Given the description of an element on the screen output the (x, y) to click on. 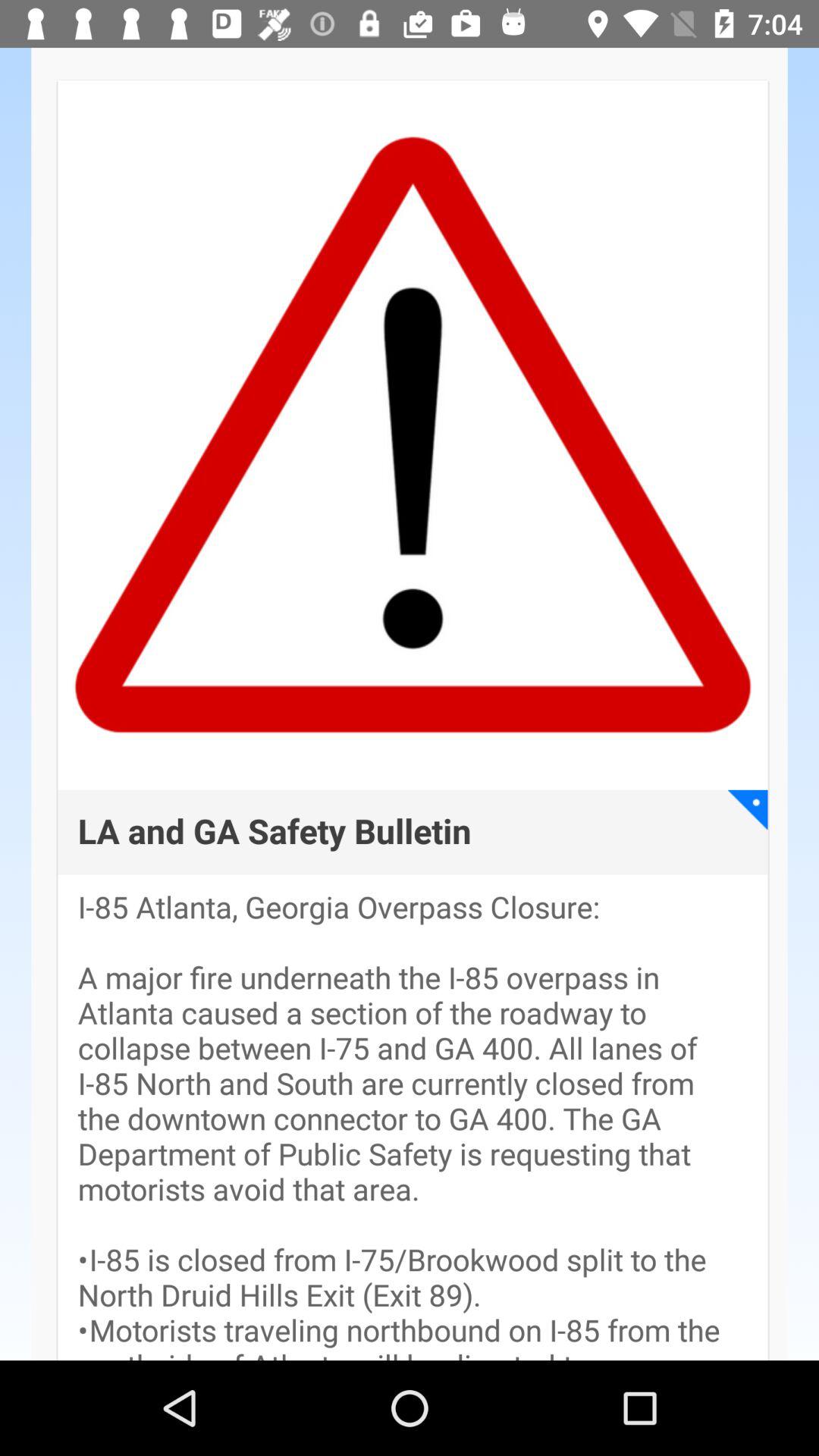
swipe until i 85 atlanta app (412, 1125)
